Given the description of an element on the screen output the (x, y) to click on. 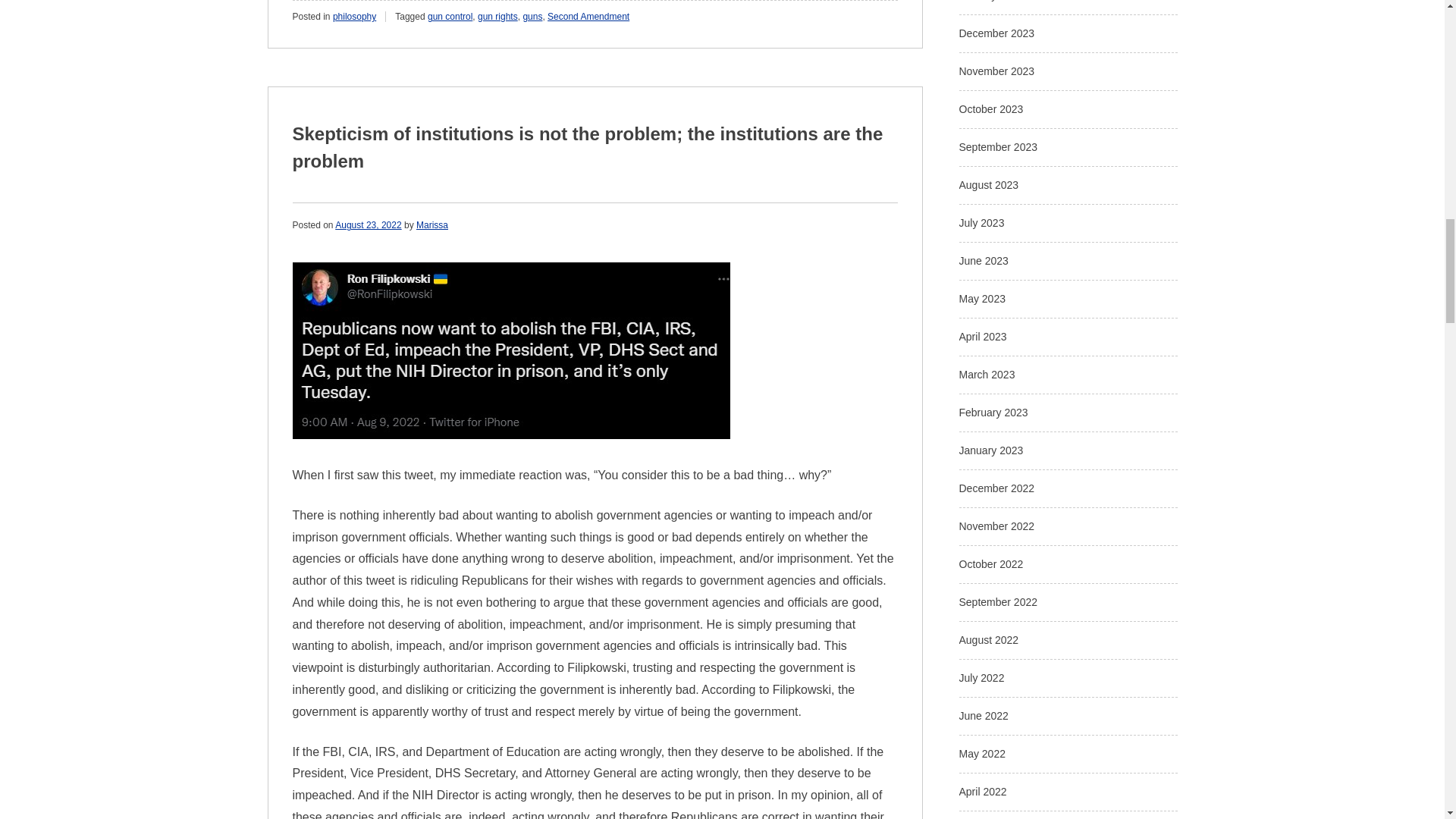
Second Amendment (587, 16)
guns (531, 16)
gun rights (497, 16)
Marissa (432, 225)
gun control (449, 16)
August 23, 2022 (367, 225)
philosophy (354, 16)
